Given the description of an element on the screen output the (x, y) to click on. 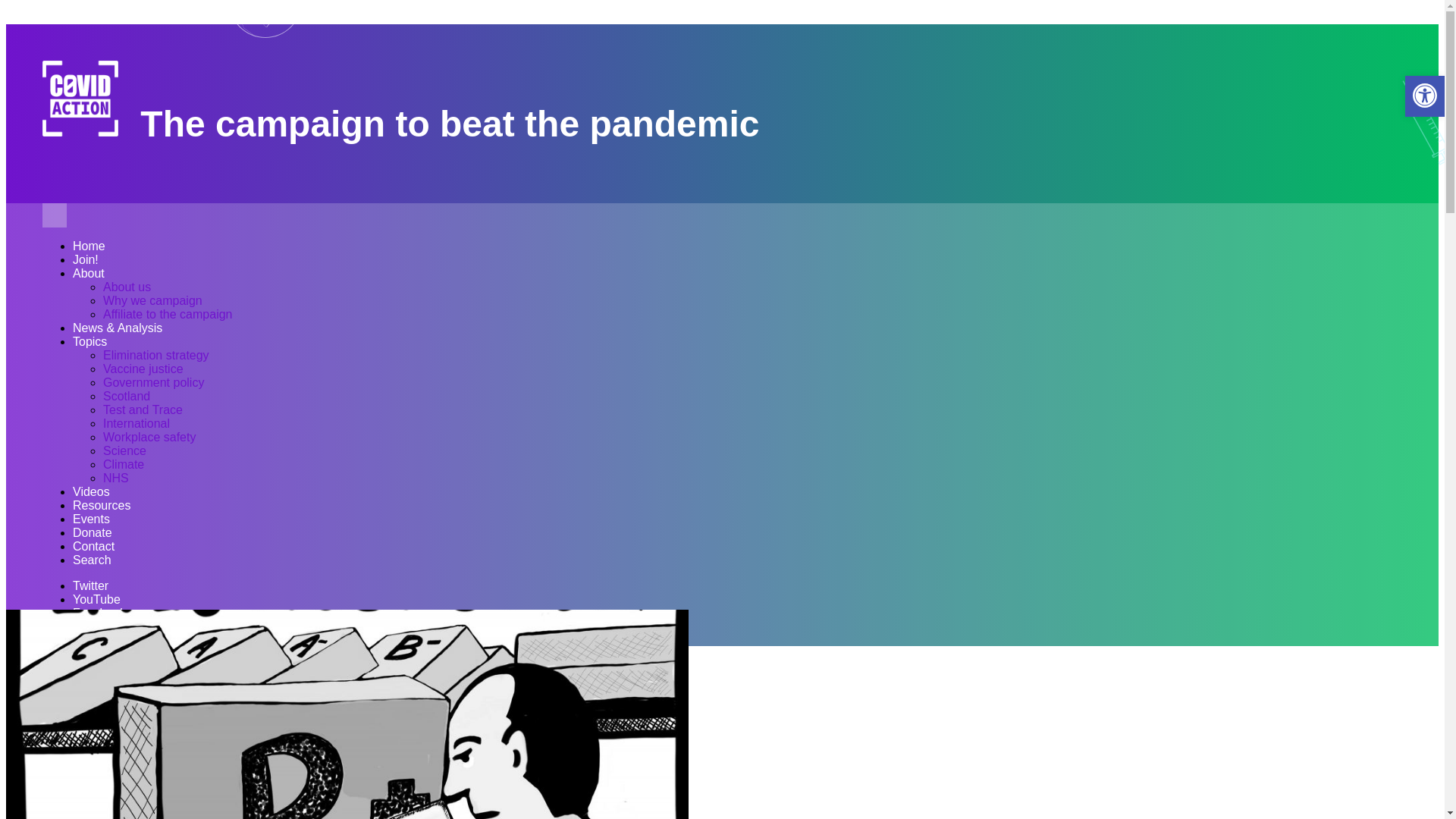
Home (88, 246)
Accessibility Tools (1424, 95)
Topics (89, 341)
International (136, 423)
Resources (101, 505)
Contact (93, 546)
Workplace safety (149, 437)
Videos (91, 492)
Climate (123, 464)
Science (125, 451)
About (88, 273)
Elimination strategy (156, 355)
Government policy (153, 382)
Donate (92, 533)
Why we campaign (152, 301)
